Given the description of an element on the screen output the (x, y) to click on. 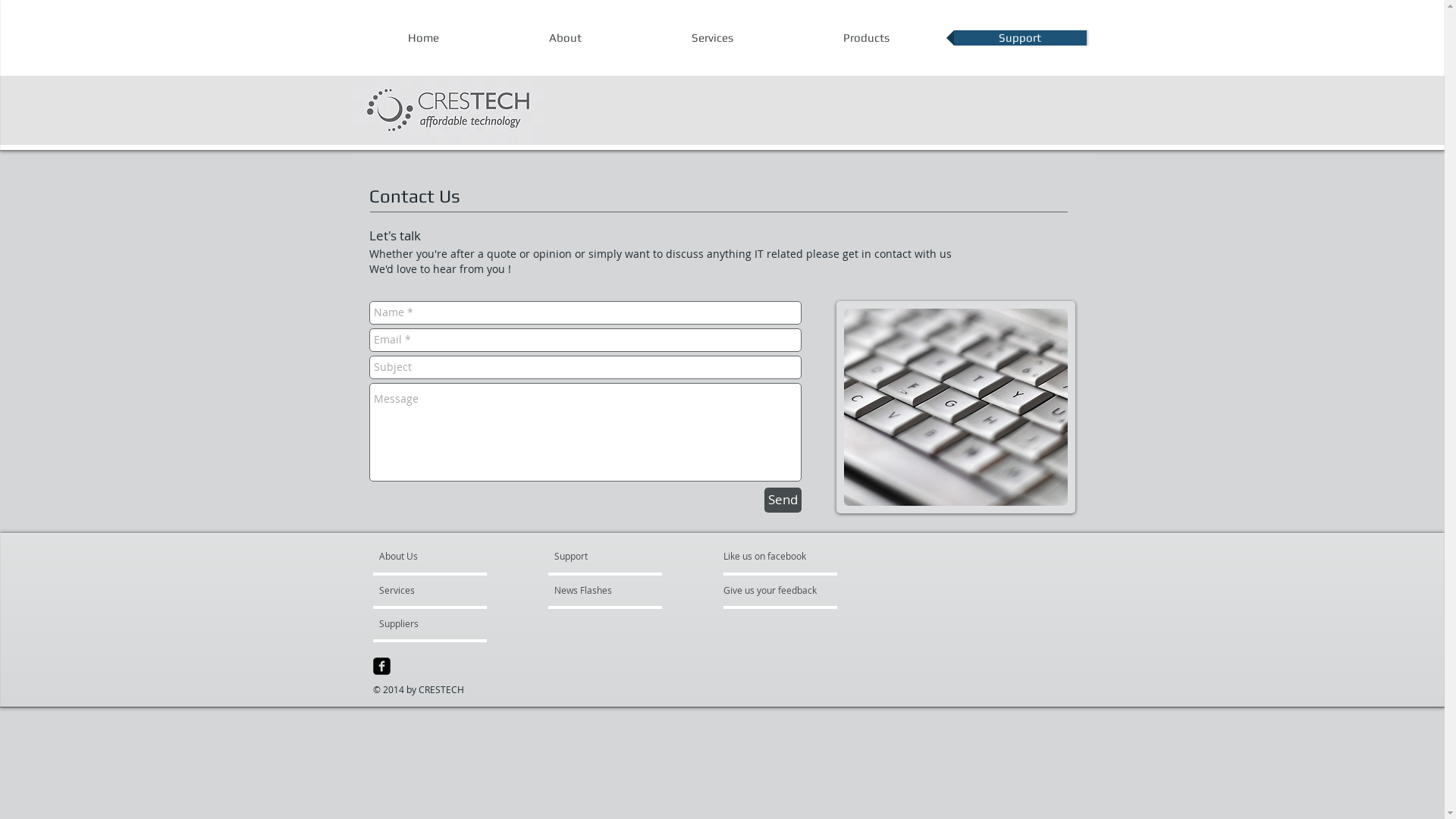
Services Element type: text (422, 589)
Products Element type: text (866, 37)
About Element type: text (564, 37)
Support Element type: text (589, 555)
Home Element type: text (423, 37)
Suppliers Element type: text (420, 622)
Support Element type: text (1020, 37)
About Us Element type: text (437, 555)
Give us your feedback Element type: text (777, 589)
Like us on facebook Element type: text (768, 555)
News Flashes Element type: text (596, 589)
Send Element type: text (782, 499)
Services Element type: text (712, 37)
